Given the description of an element on the screen output the (x, y) to click on. 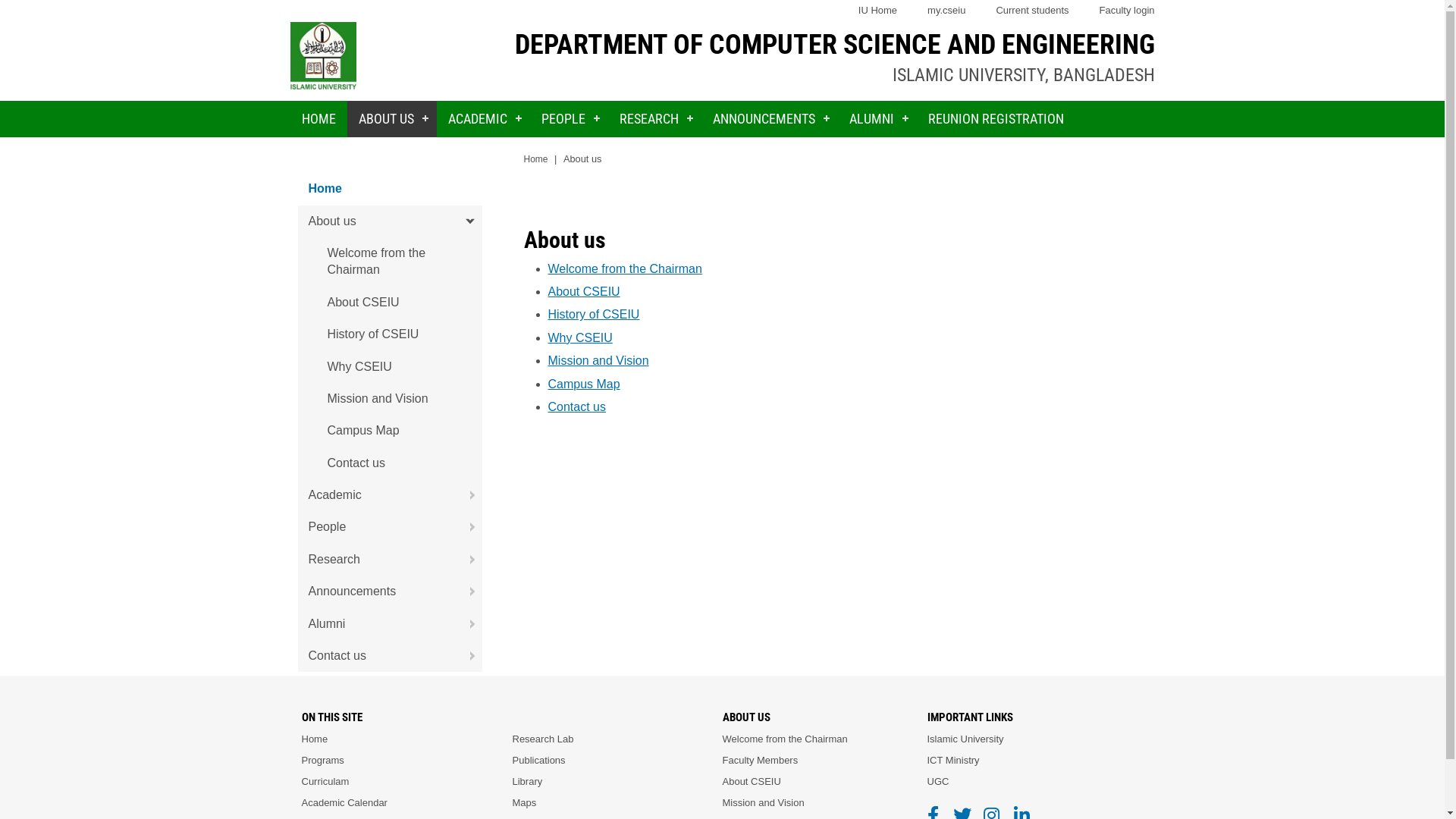
Contact us Element type: text (389, 655)
Expand/Collapse Element type: hover (465, 559)
Expand/Collapse Element type: hover (465, 591)
Research Lab Element type: text (543, 738)
Contact us Element type: text (389, 463)
Why CSEIU Element type: text (579, 337)
IU Home Element type: text (877, 9)
About CSEIU Element type: text (389, 302)
Expand/Collapse Element type: hover (465, 655)
Current students Element type: text (1031, 9)
History of CSEIU Element type: text (593, 313)
Research Element type: text (389, 559)
ALUMNI Element type: text (876, 118)
UGC Element type: text (937, 781)
Home Element type: text (389, 188)
Expand/Collapse Element type: hover (465, 526)
Home Element type: text (535, 158)
ABOUT US Element type: text (391, 118)
Programs Element type: text (322, 760)
ANNOUNCEMENTS Element type: text (768, 118)
People Element type: text (389, 526)
Academic Calendar Element type: text (344, 802)
Announcements Element type: text (389, 591)
Contact us Element type: text (576, 406)
Academic Element type: text (389, 495)
Expand/Collapse Element type: hover (465, 221)
Why CSEIU Element type: text (389, 366)
Publications Element type: text (538, 760)
my.cseiu Element type: text (946, 9)
Home Element type: text (314, 738)
Mission and Vision Element type: text (762, 802)
RESEARCH Element type: text (654, 118)
Expand/Collapse Element type: hover (465, 624)
Curriculam Element type: text (325, 781)
DEPARTMENT OF COMPUTER SCIENCE AND ENGINEERING Element type: text (834, 44)
About CSEIU Element type: text (750, 781)
HOME Element type: text (317, 118)
Islamic University Element type: text (964, 738)
PEOPLE Element type: text (568, 118)
Welcome from the Chairman Element type: text (389, 261)
Faculty Members Element type: text (759, 760)
Faculty login Element type: text (1126, 9)
ACADEMIC Element type: text (483, 118)
REUNION REGISTRATION Element type: text (995, 118)
ICT Ministry Element type: text (952, 760)
Maps Element type: text (524, 802)
Alumni Element type: text (389, 624)
Campus Map Element type: text (389, 430)
Mission and Vision Element type: text (597, 360)
Mission and Vision Element type: text (389, 398)
History of CSEIU Element type: text (389, 334)
Welcome from the Chairman Element type: text (624, 268)
About CSEIU Element type: text (583, 291)
Expand/Collapse Element type: hover (465, 495)
Welcome from the Chairman Element type: text (784, 738)
About us Element type: text (389, 221)
Campus Map Element type: text (583, 383)
Library Element type: text (527, 781)
